Given the description of an element on the screen output the (x, y) to click on. 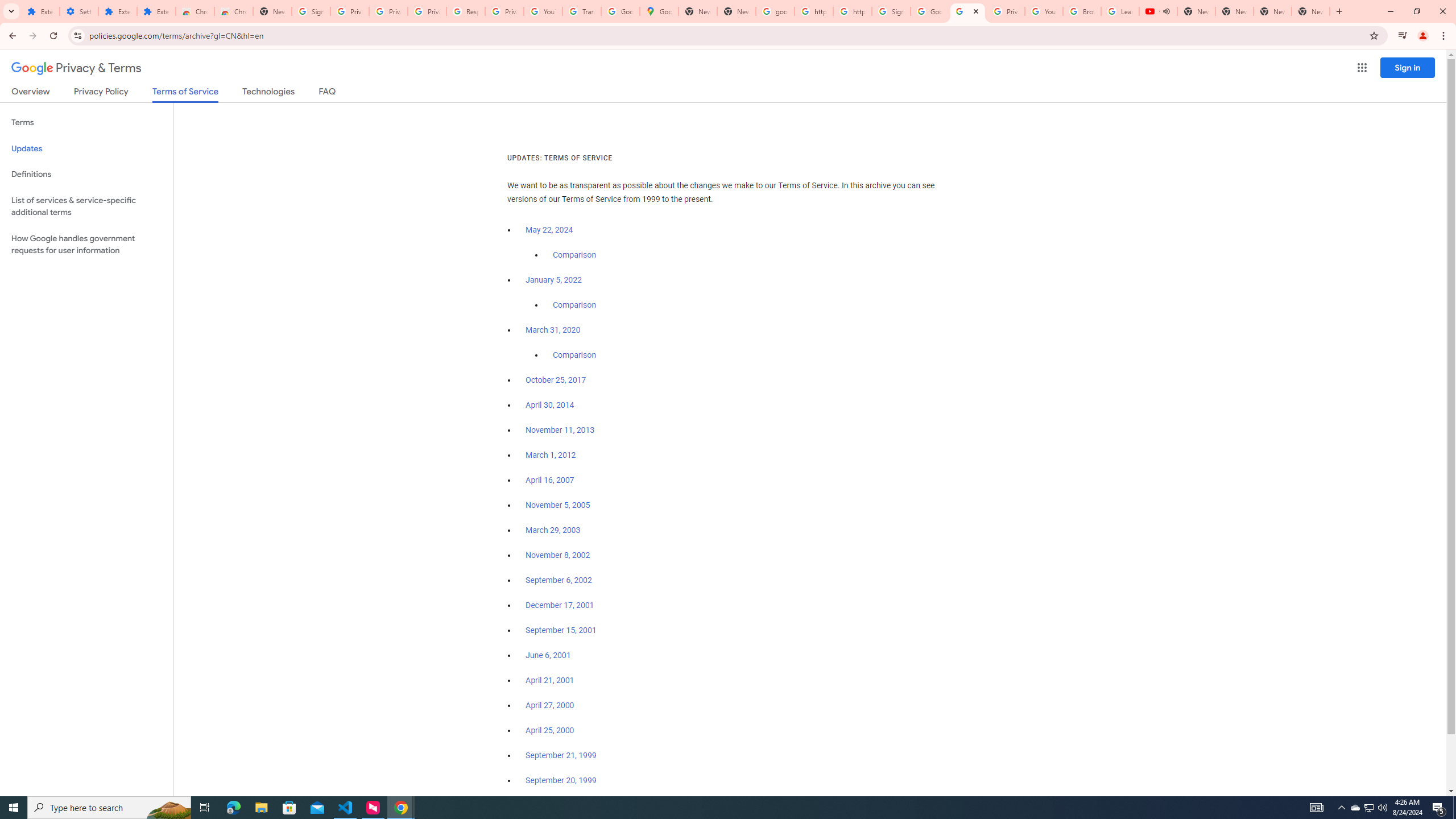
March 31, 2020 (552, 330)
December 17, 2001 (559, 605)
